Given the description of an element on the screen output the (x, y) to click on. 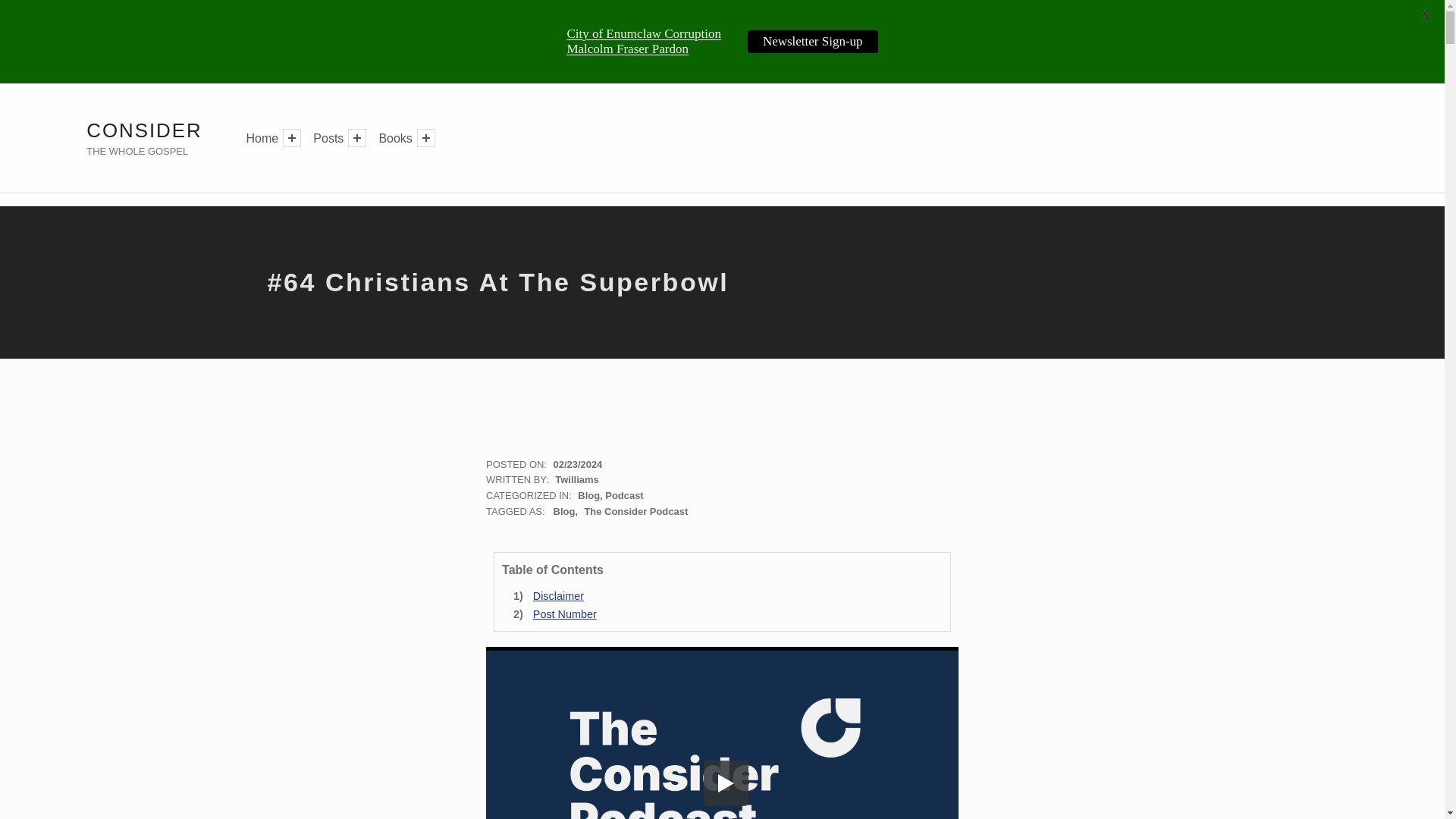
Books (395, 137)
Home (261, 137)
Blog (588, 495)
CONSIDER (143, 129)
Twilliams (576, 479)
Podcast (624, 495)
Video Player (722, 733)
Posts (327, 137)
